Given the description of an element on the screen output the (x, y) to click on. 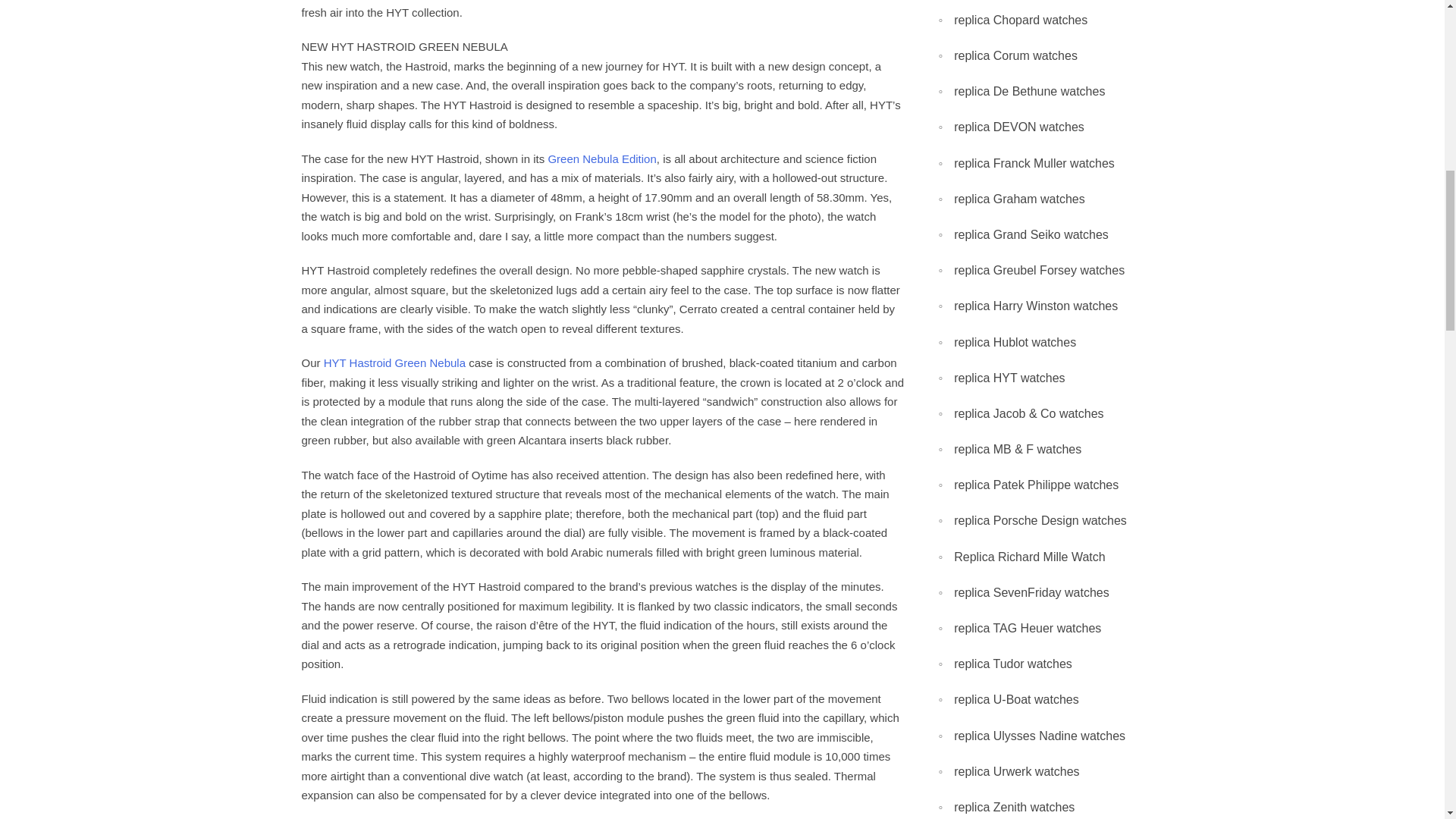
replica Chopard watches (1020, 19)
Green Nebula Edition (601, 158)
replica DEVON watches (1018, 127)
replica Corum watches (1015, 55)
replica Graham watches (1018, 199)
replica De Bethune watches (1029, 91)
replica Franck Muller watches (1034, 163)
HYT Hastroid Green Nebula (394, 362)
